Given the description of an element on the screen output the (x, y) to click on. 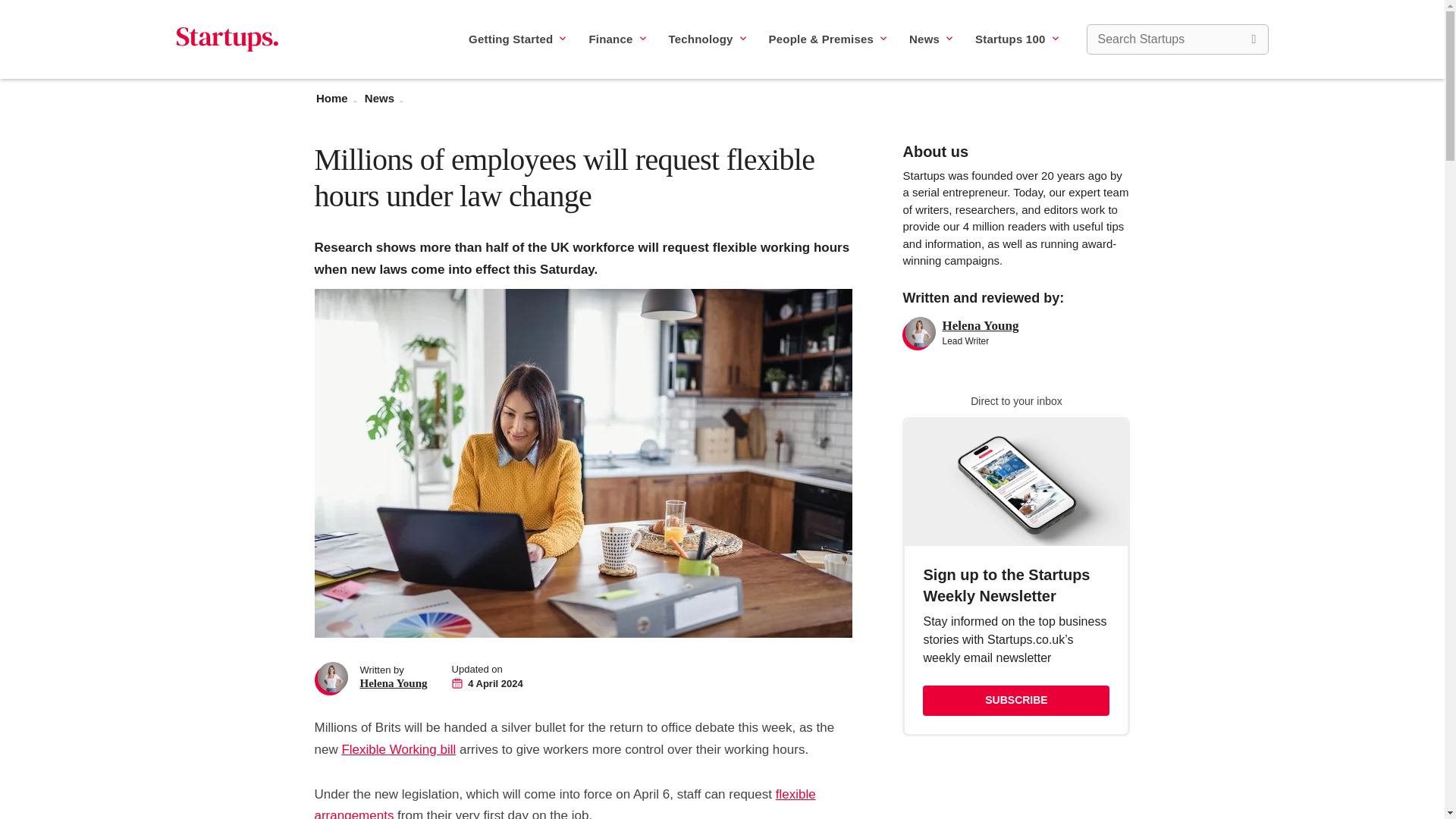
Getting Started (517, 39)
Startups (227, 39)
Finance (616, 39)
